Given the description of an element on the screen output the (x, y) to click on. 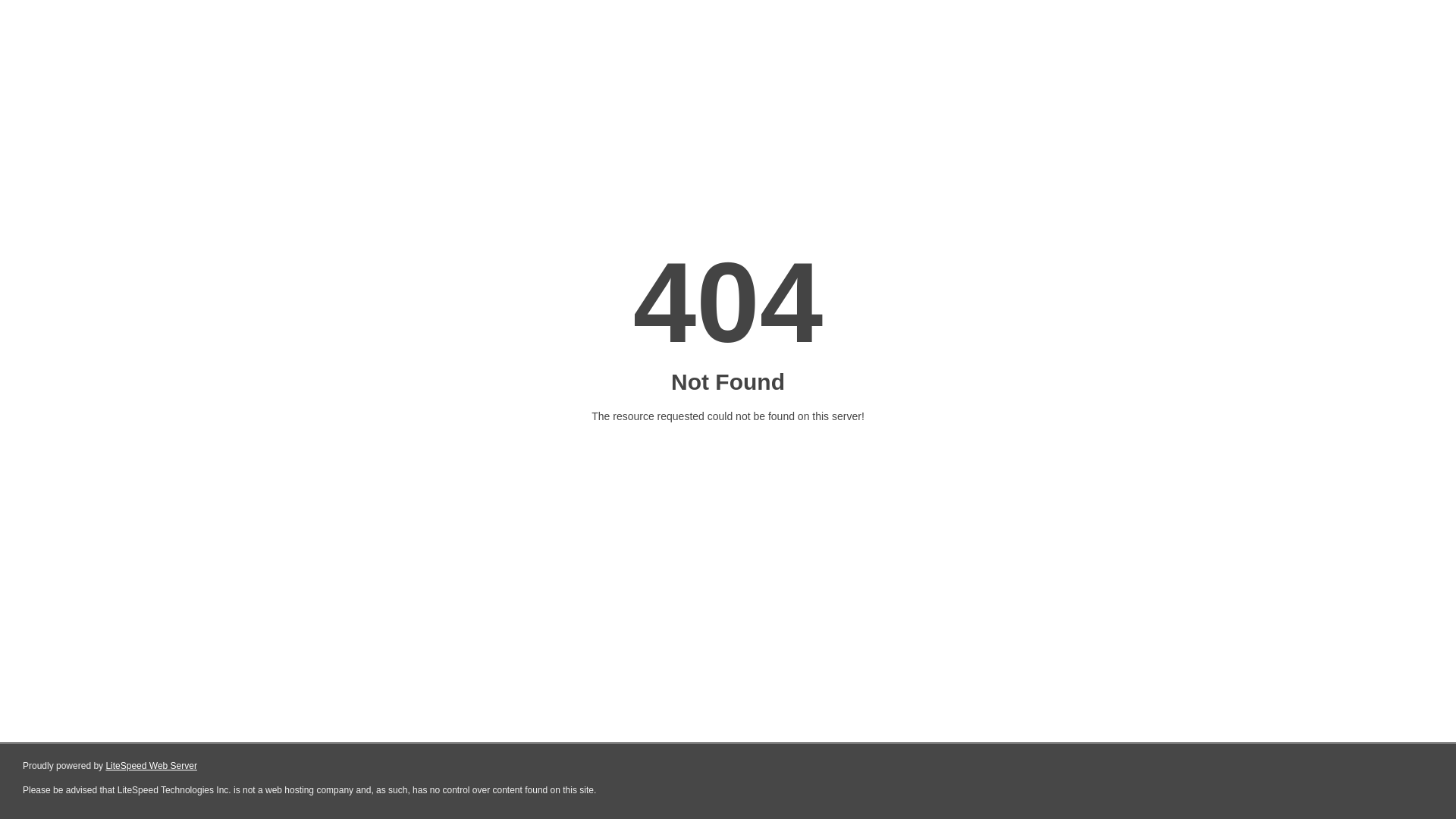
LiteSpeed Web Server Element type: text (151, 765)
